Given the description of an element on the screen output the (x, y) to click on. 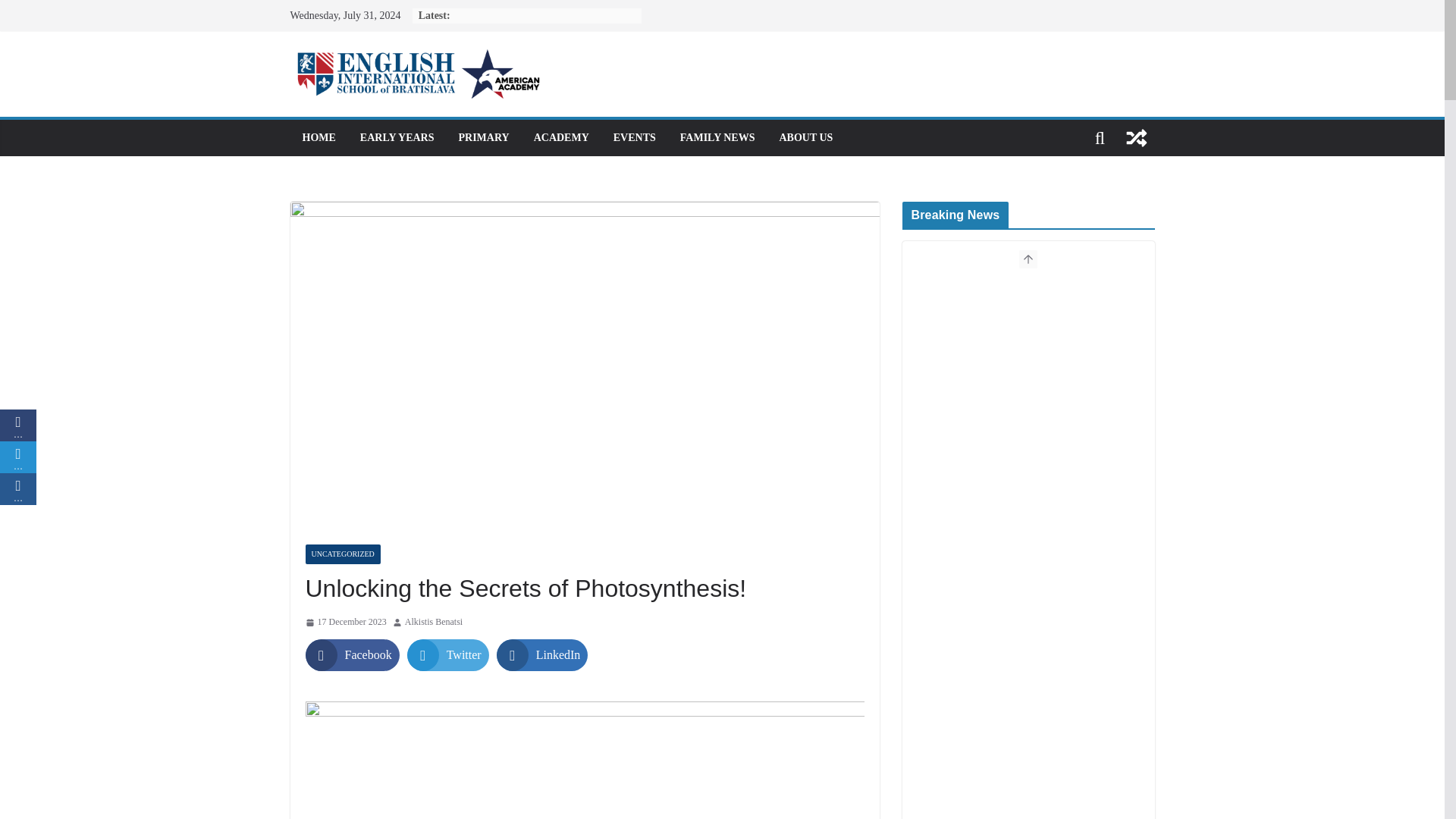
ABOUT US (805, 137)
EARLY YEARS (396, 137)
ACADEMY (561, 137)
FAMILY NEWS (717, 137)
Alkistis Benatsi (433, 622)
Facebook (351, 654)
Alkistis Benatsi (433, 622)
LinkedIn (542, 654)
15:35 (344, 622)
EVENTS (634, 137)
